Given the description of an element on the screen output the (x, y) to click on. 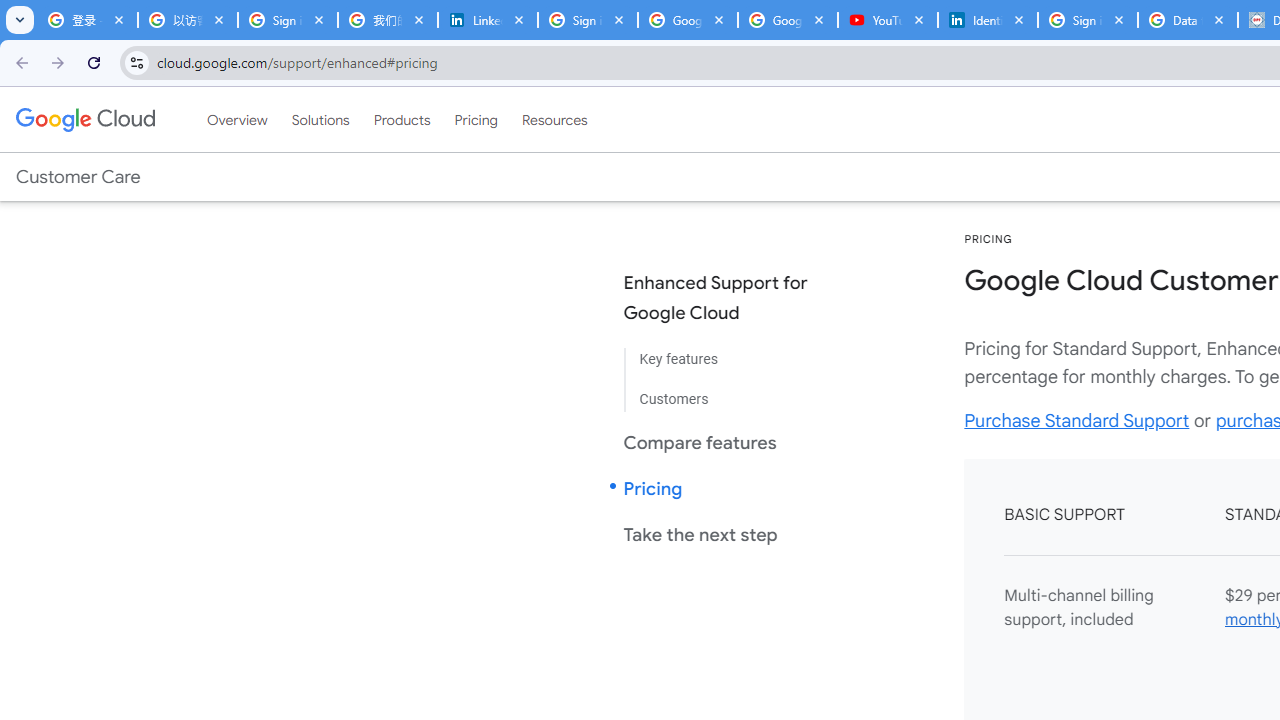
Sign in - Google Accounts (587, 20)
